Given the description of an element on the screen output the (x, y) to click on. 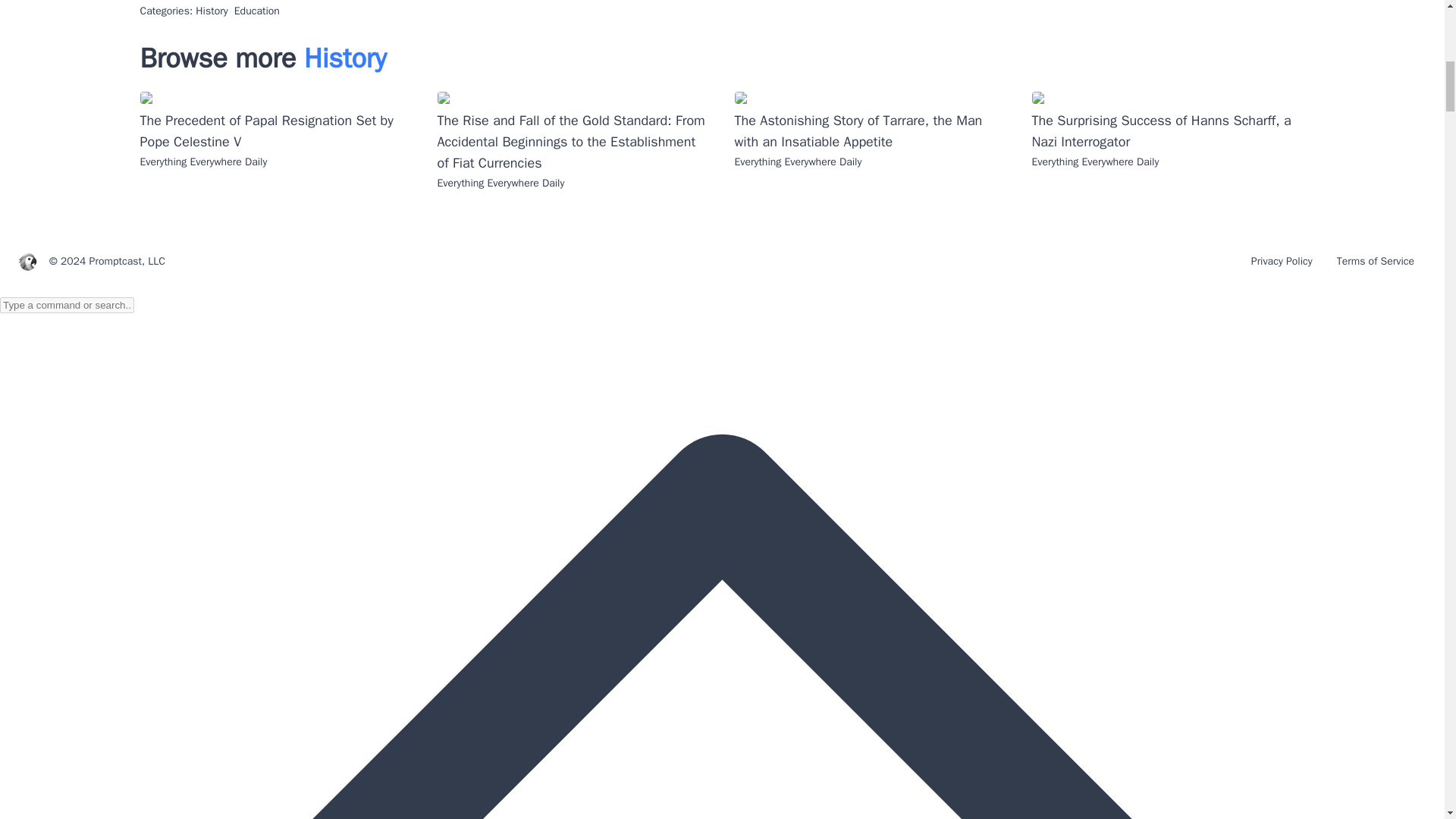
History (211, 10)
History (345, 58)
Education (256, 10)
Terms of Service (1375, 261)
Privacy Policy (1281, 261)
